Given the description of an element on the screen output the (x, y) to click on. 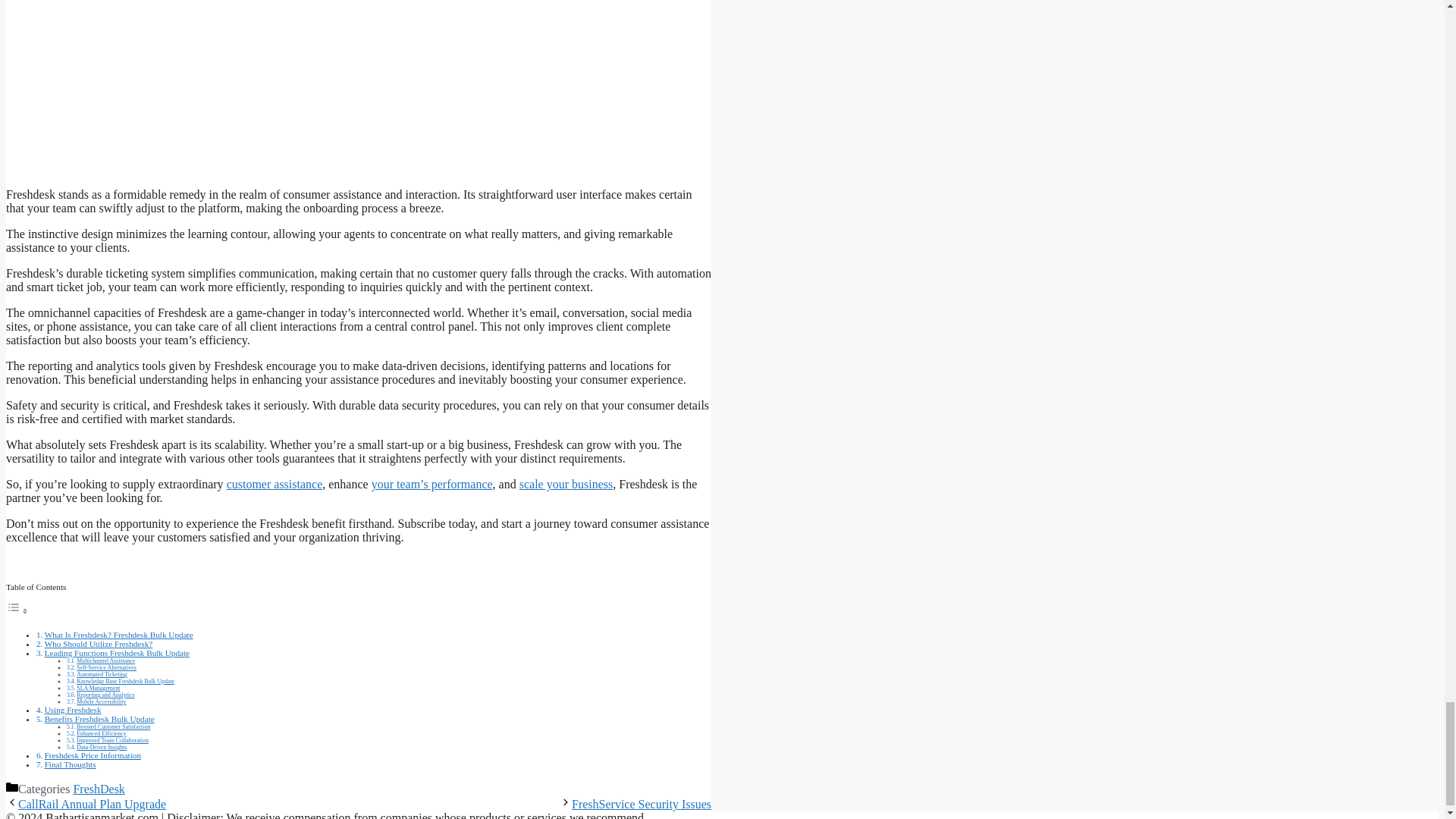
Knowledge Base Freshdesk Bulk Update (125, 681)
Enhanced Efficiency (101, 733)
scale your business (565, 483)
CallRail Annual Plan Upgrade (91, 803)
Using Freshdesk (73, 709)
Boosted Customer Satisfaction (113, 726)
Mobile Accessibility (101, 701)
Reporting and Analytics (105, 694)
FreshService Security Issues (641, 803)
Who Should Utilize Freshdesk? (98, 643)
What Is Freshdesk? Freshdesk Bulk Update (119, 634)
Automated Ticketing (101, 674)
Mobile Accessibility (101, 701)
Self-Service Alternatives (106, 667)
Benefits Freshdesk Bulk Update (99, 718)
